Given the description of an element on the screen output the (x, y) to click on. 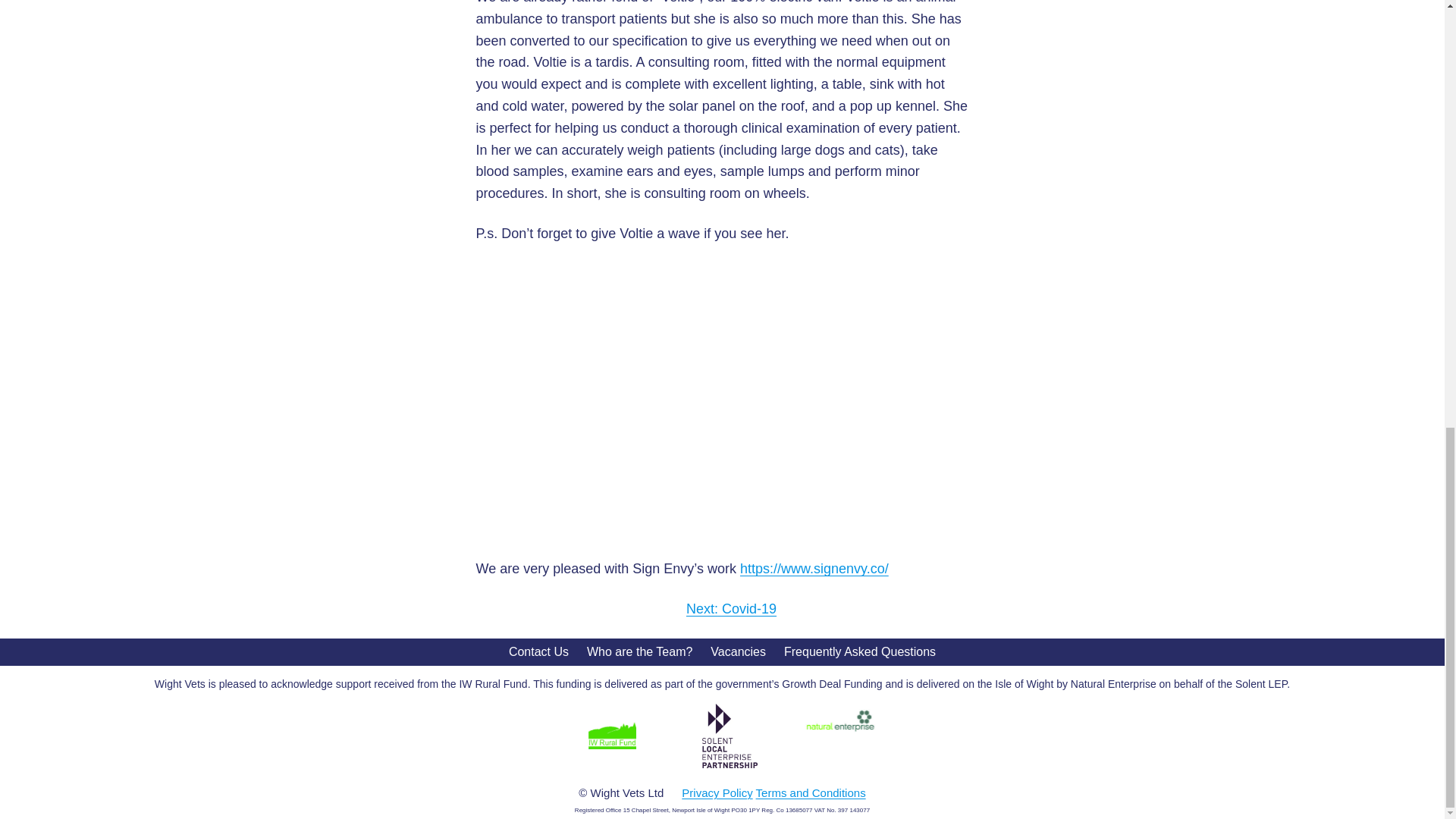
Contact Us (538, 652)
Next: Covid-19 (730, 608)
Who are the Team? (639, 652)
